Given the description of an element on the screen output the (x, y) to click on. 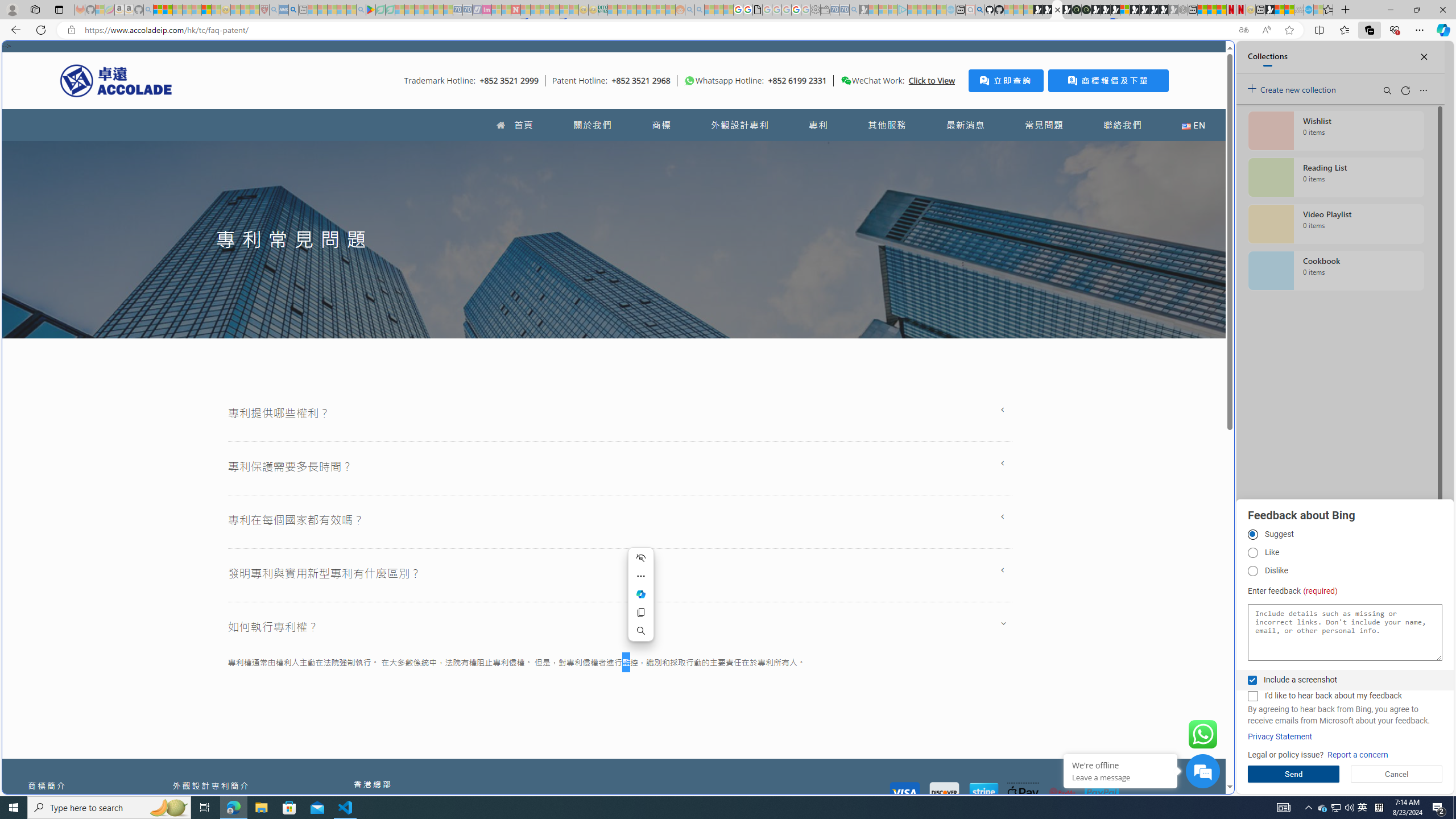
Latest Politics News & Archive | Newsweek.com - Sleeping (515, 9)
Microsoft-Report a Concern to Bing - Sleeping (99, 9)
Cheap Car Rentals - Save70.com - Sleeping (844, 9)
Mini menu on text selection (640, 594)
Jobs - lastminute.com Investor Portal - Sleeping (486, 9)
